Given the description of an element on the screen output the (x, y) to click on. 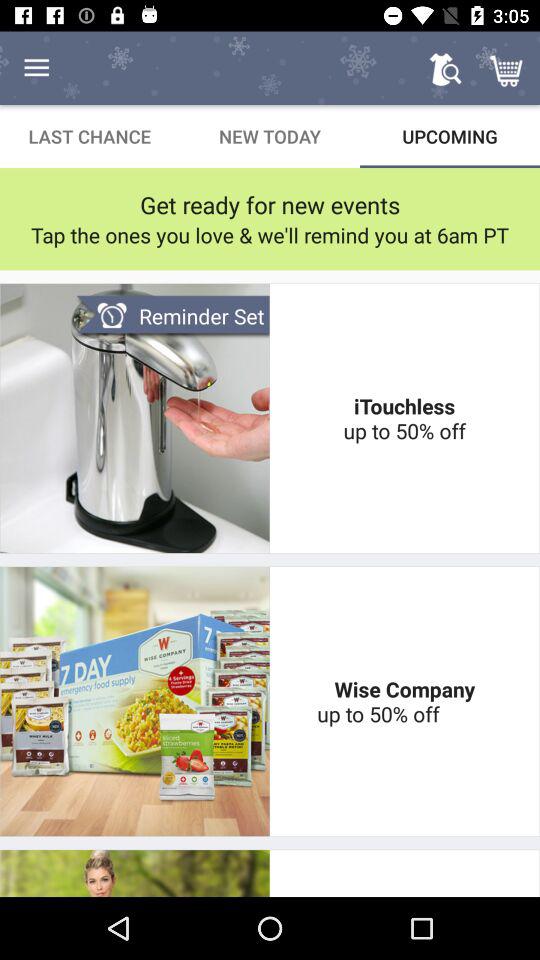
launch the item above last chance icon (36, 68)
